Given the description of an element on the screen output the (x, y) to click on. 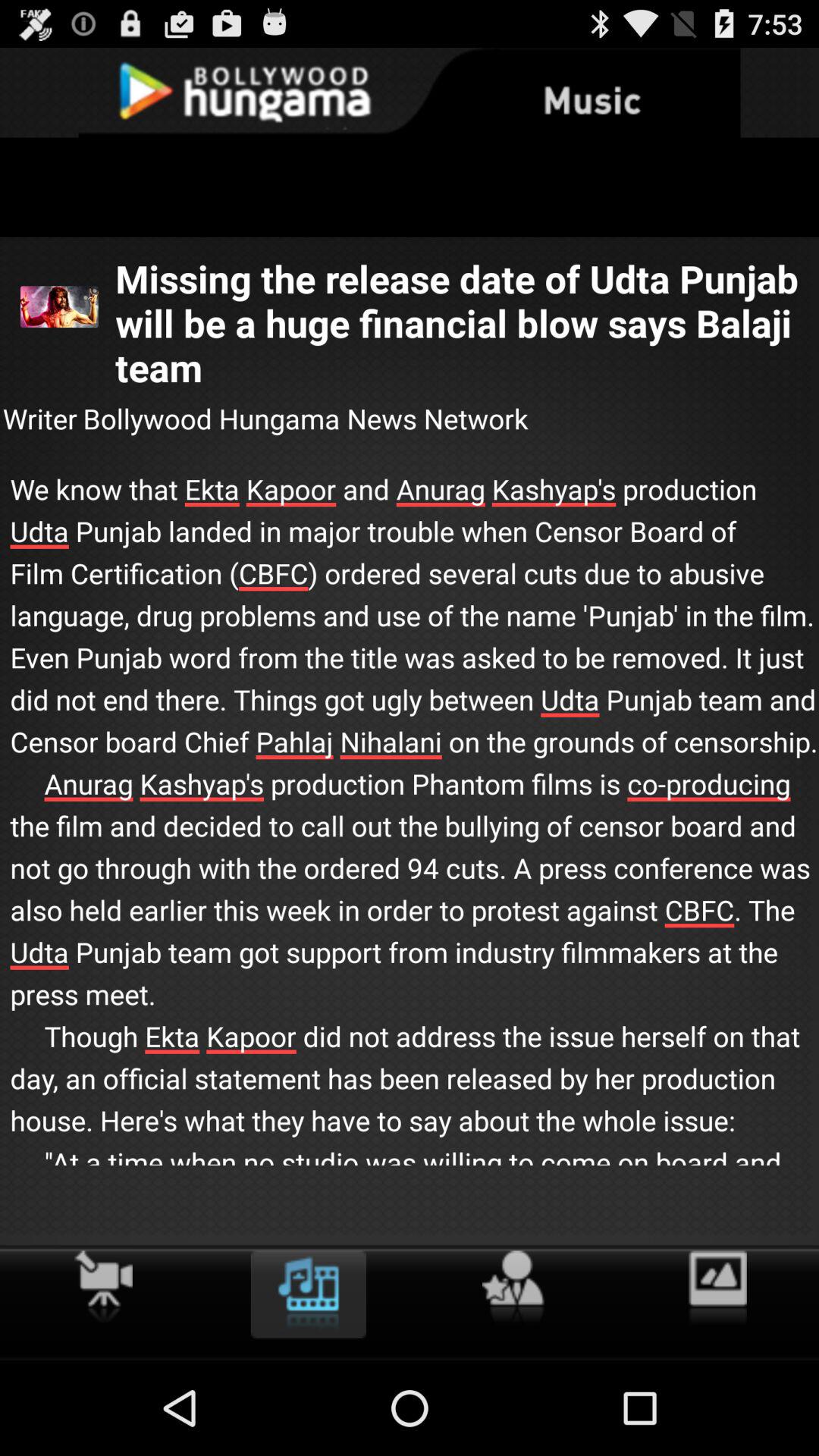
mark as a favorite (512, 1287)
